Given the description of an element on the screen output the (x, y) to click on. 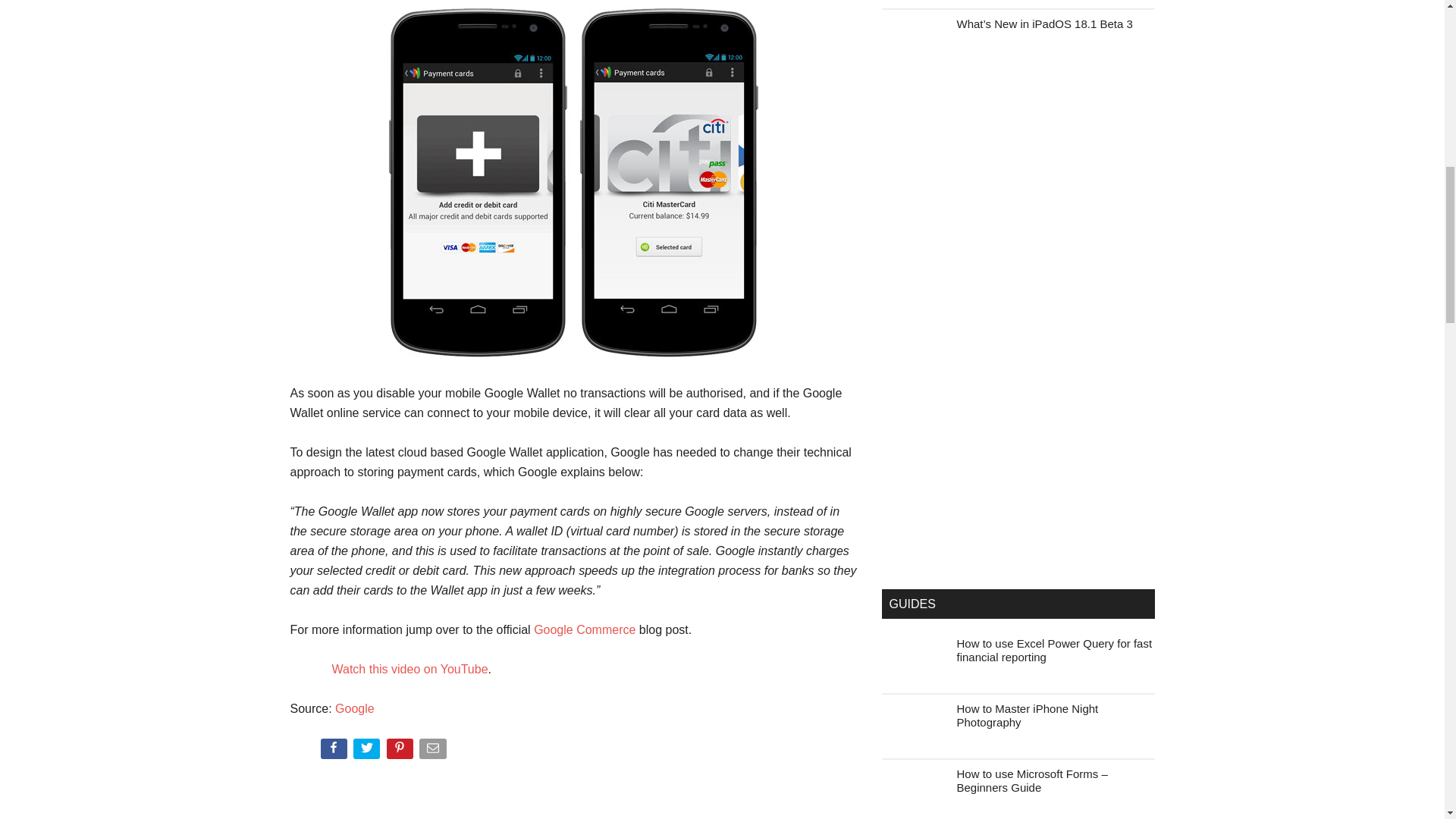
Tweet (367, 751)
Pin (401, 751)
Google Commerce (584, 629)
Share on Facebook (334, 751)
Watch this video on YouTube (409, 668)
Email (433, 751)
Google (354, 707)
